Given the description of an element on the screen output the (x, y) to click on. 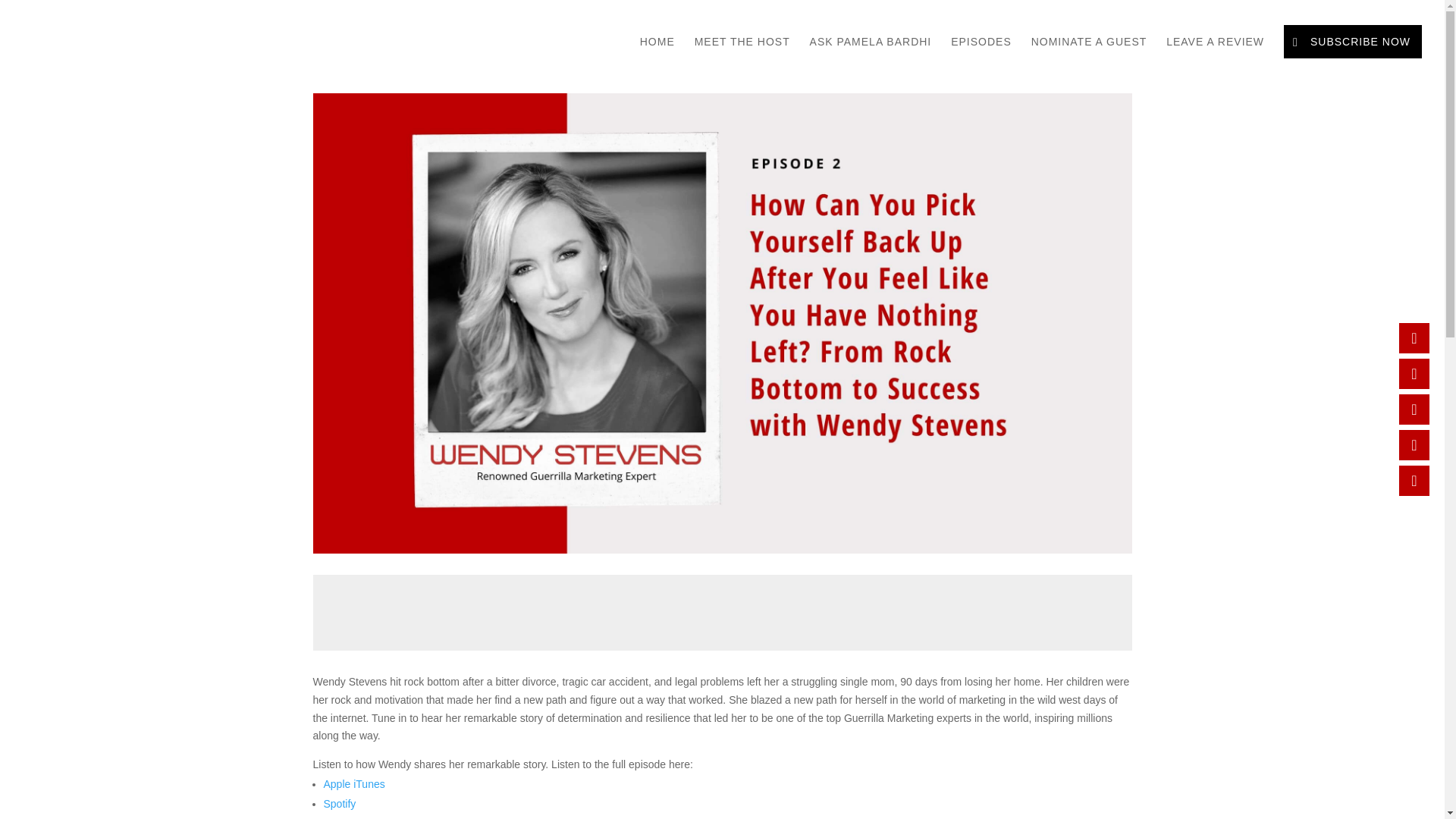
MEET THE HOST (742, 54)
Instagram (1414, 409)
HOME (657, 54)
NOMINATE A GUEST (1088, 54)
Website (342, 818)
LinkedIn (1414, 337)
Youtube (1414, 481)
ASK PAMELA BARDHI (870, 54)
EPISODES (980, 54)
Spotify (339, 803)
